Given the description of an element on the screen output the (x, y) to click on. 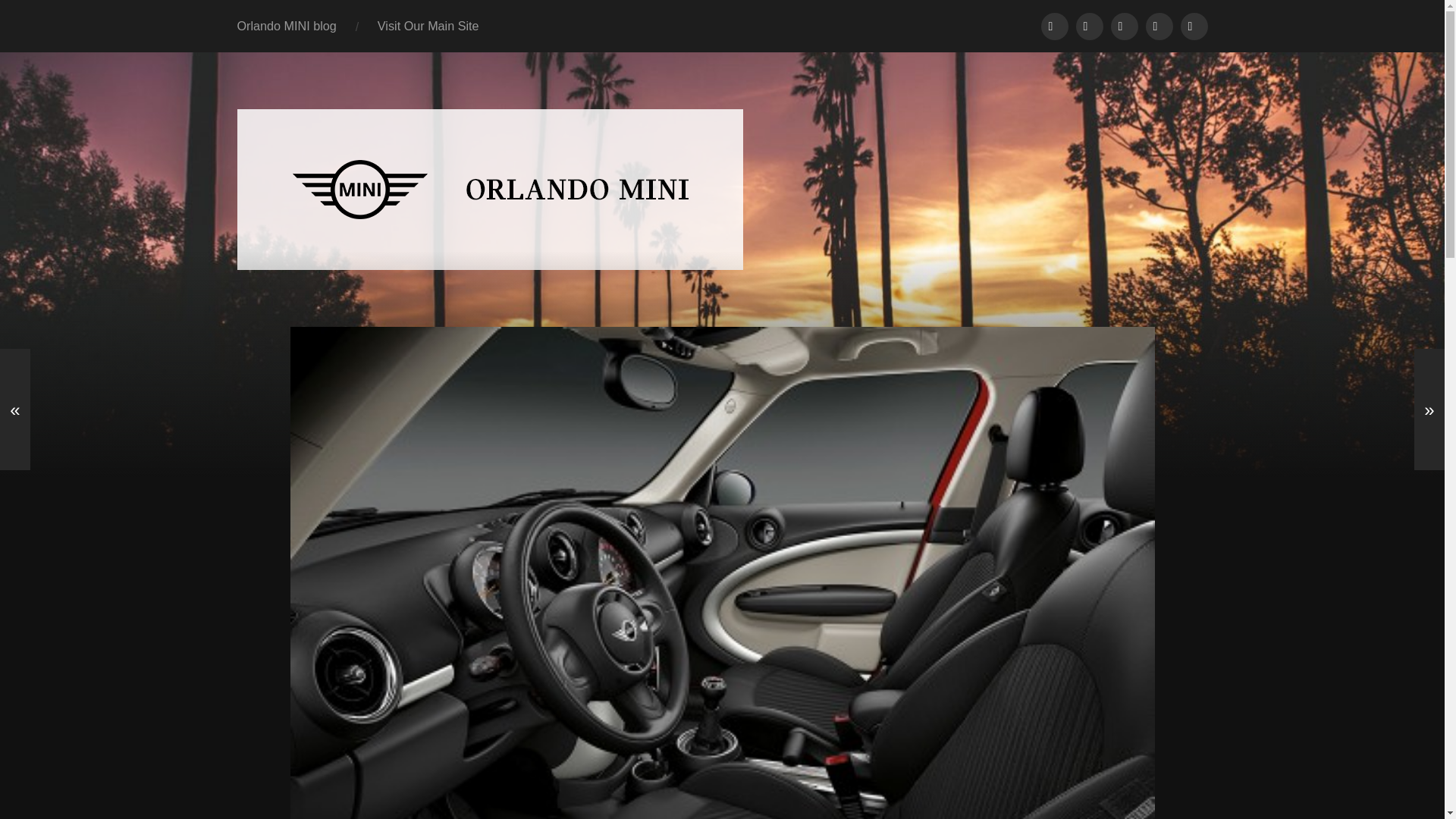
YouTube (1123, 25)
Visit Our Main Site (427, 26)
Twitter (1088, 25)
Facebook (1054, 25)
Orlando MINI blog (286, 26)
Pinterest (1193, 25)
Instagram (1158, 25)
